Given the description of an element on the screen output the (x, y) to click on. 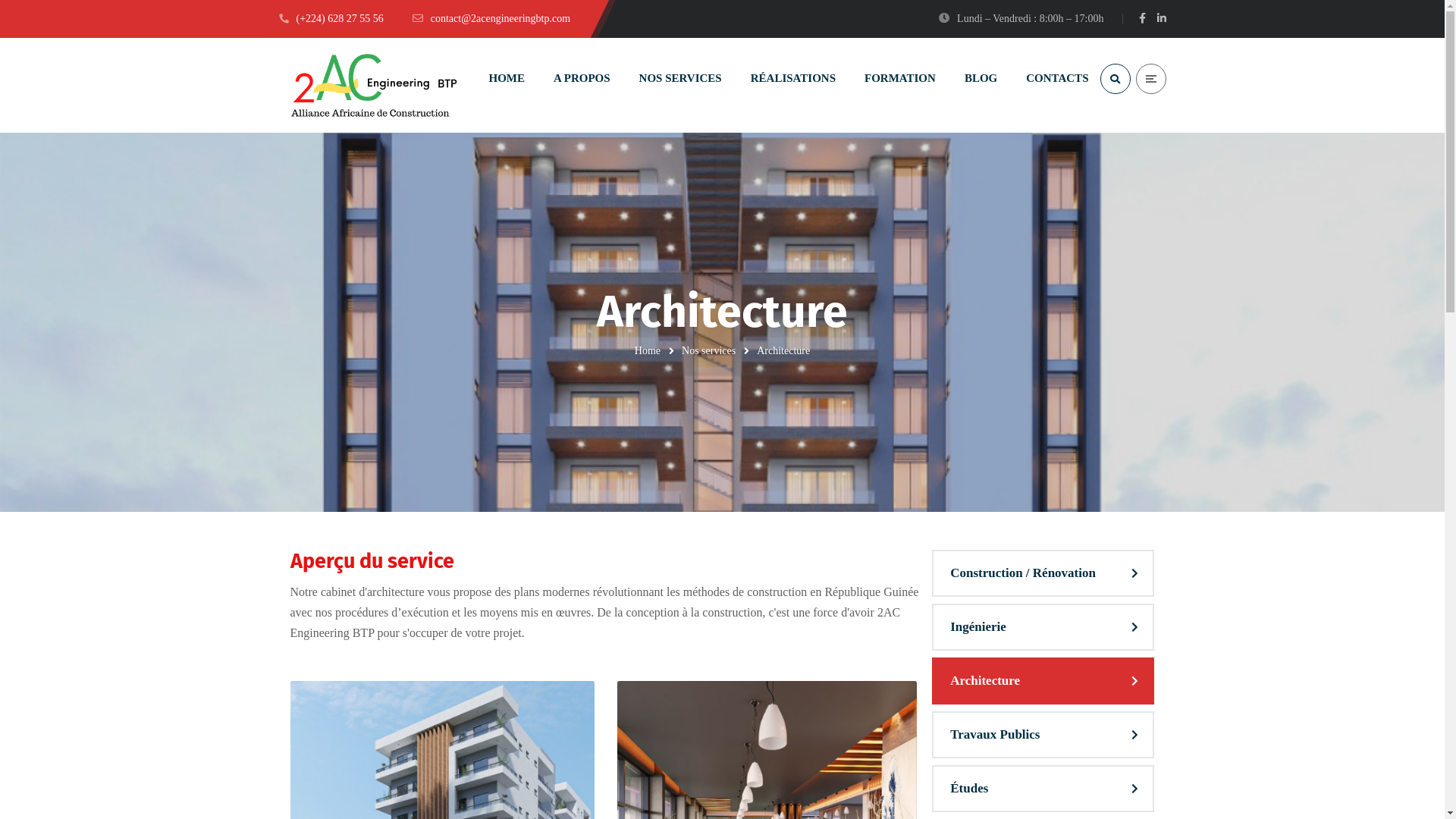
CONTACTS Element type: text (1057, 78)
(+224) 628 27 55 56 Element type: text (331, 18)
BLOG Element type: text (980, 78)
Architecture Element type: text (1042, 680)
Travaux Publics Element type: text (1042, 734)
Home Element type: text (647, 350)
HOME Element type: text (507, 78)
FORMATION Element type: text (899, 78)
A PROPOS Element type: text (581, 78)
NOS SERVICES Element type: text (680, 78)
contact@2acengineeringbtp.com Element type: text (491, 18)
Nos services Element type: text (708, 350)
